Given the description of an element on the screen output the (x, y) to click on. 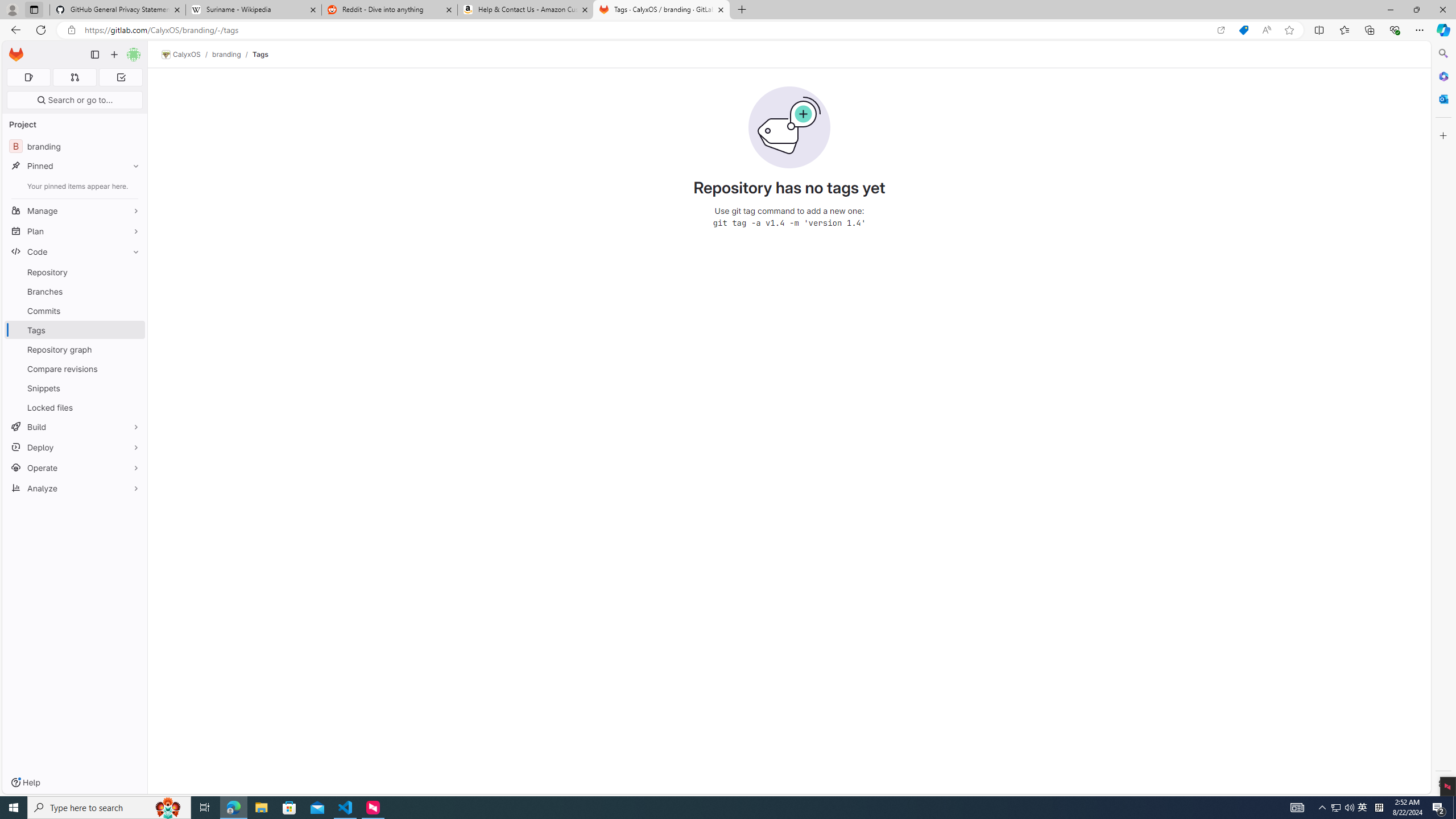
Shopping in Microsoft Edge (1243, 29)
B branding (74, 145)
Deploy (74, 447)
Assigned issues 0 (28, 76)
Pin Repository (132, 272)
Tags (259, 53)
Snippets (74, 387)
Manage (74, 210)
Pin Compare revisions (132, 368)
Side bar (1443, 418)
Branches (74, 290)
